Given the description of an element on the screen output the (x, y) to click on. 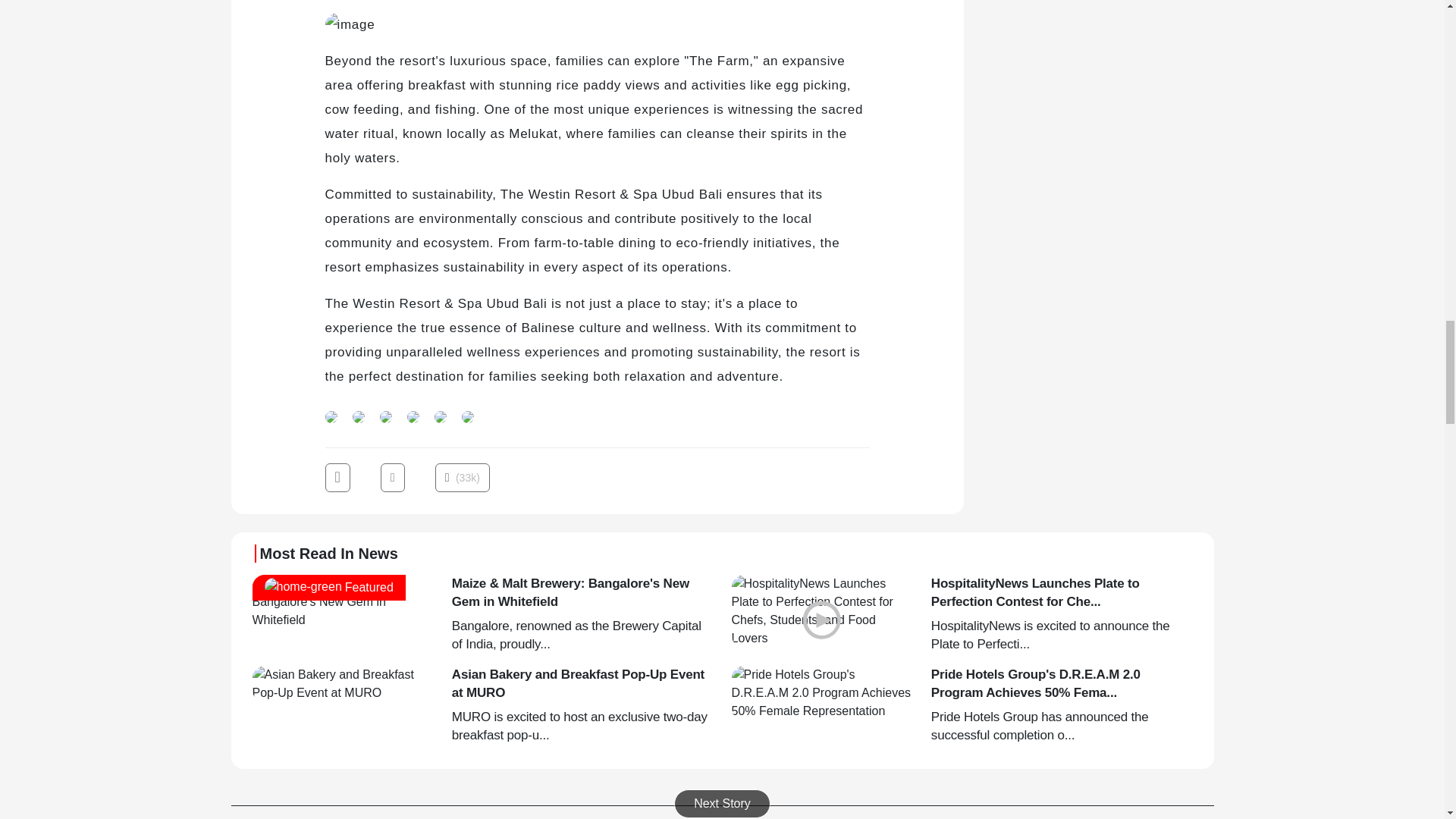
Linkedin (357, 415)
